Given the description of an element on the screen output the (x, y) to click on. 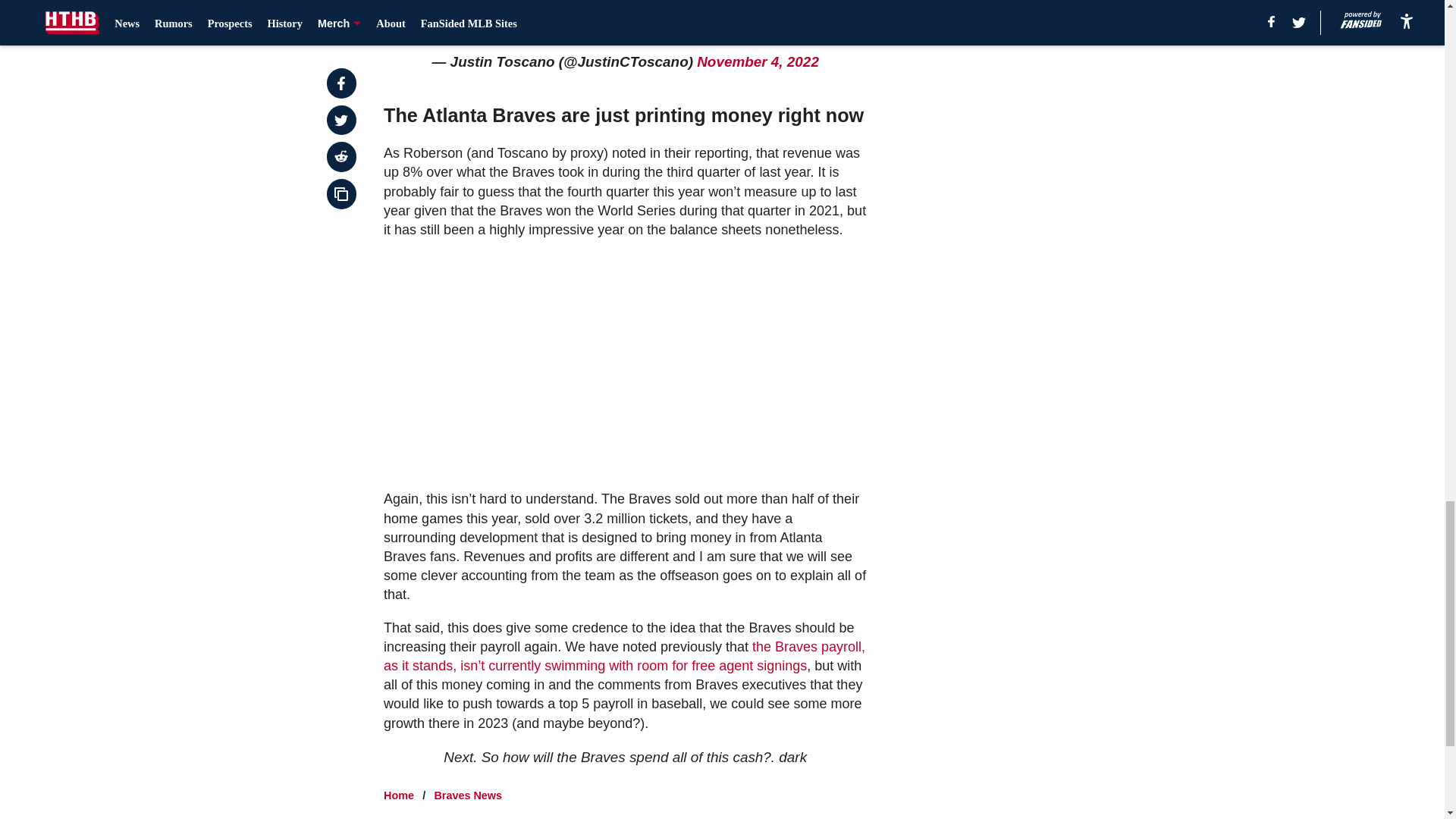
November 4, 2022 (757, 61)
Braves News (467, 795)
Home (398, 795)
